Given the description of an element on the screen output the (x, y) to click on. 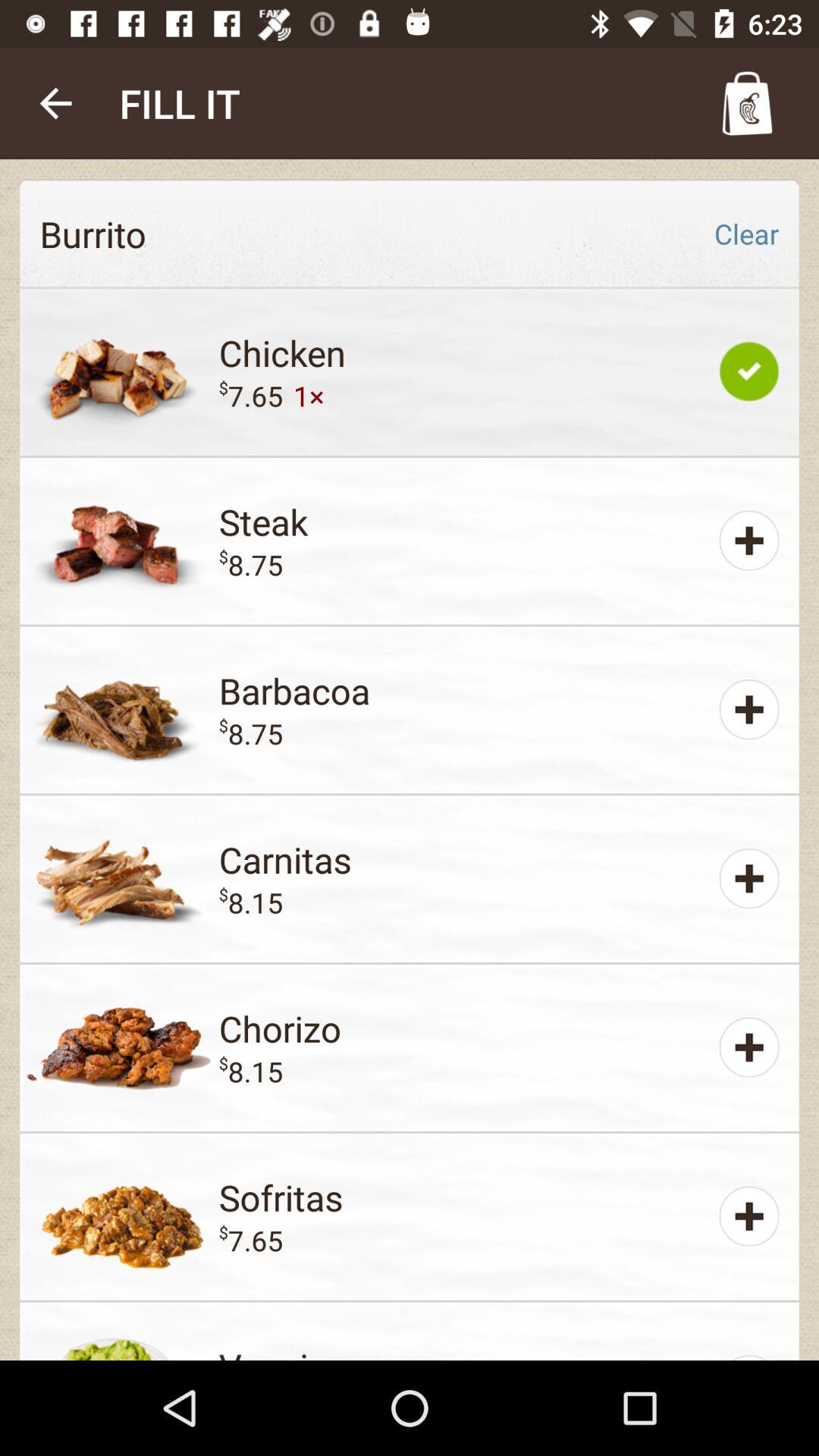
tap clear item (746, 233)
